Given the description of an element on the screen output the (x, y) to click on. 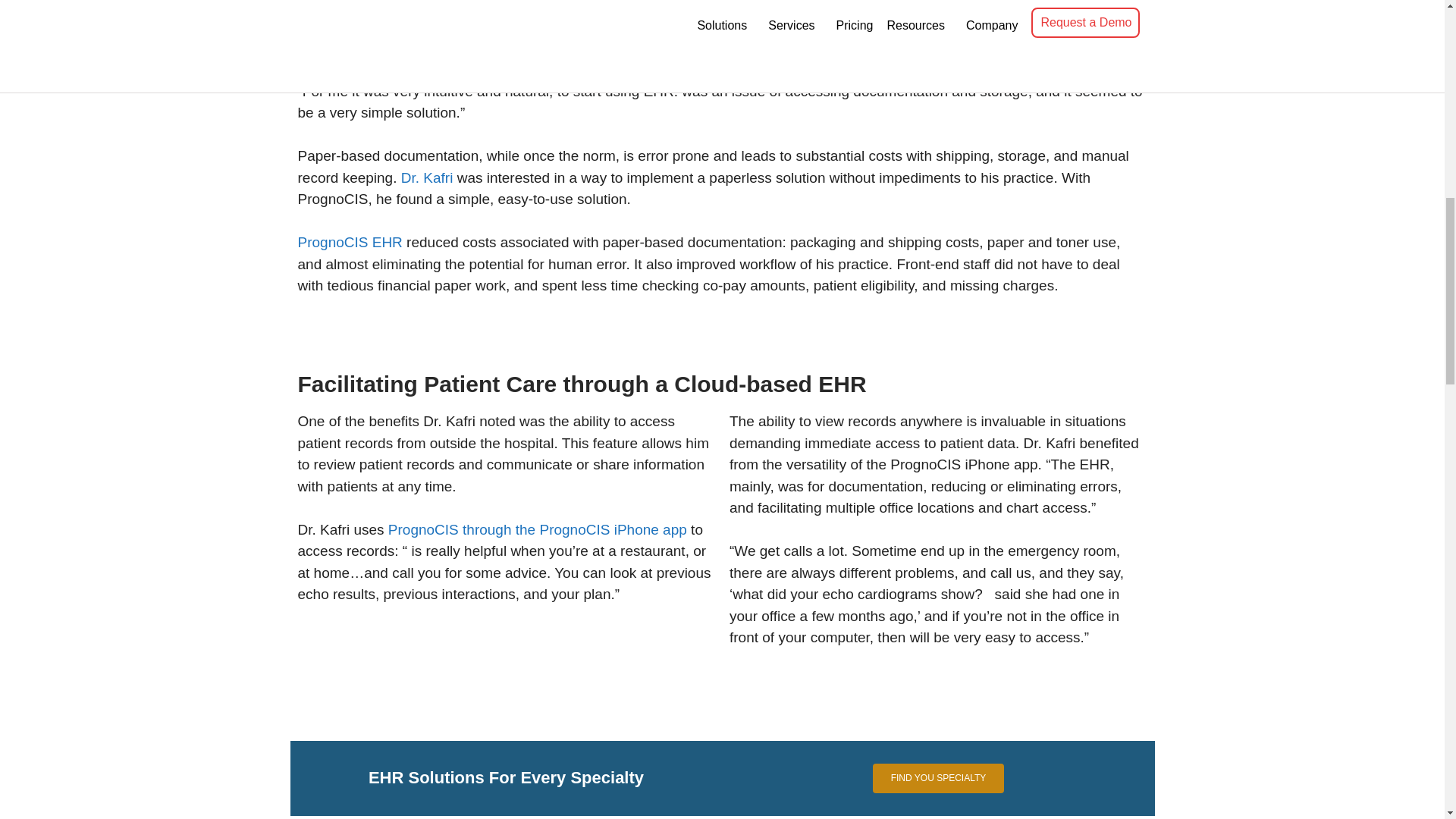
PrognoCIS through the PrognoCIS iPhone app (537, 529)
Dr. Kafri (426, 177)
PrognoCIS EHR (349, 242)
FIND YOU SPECIALTY (938, 778)
